Given the description of an element on the screen output the (x, y) to click on. 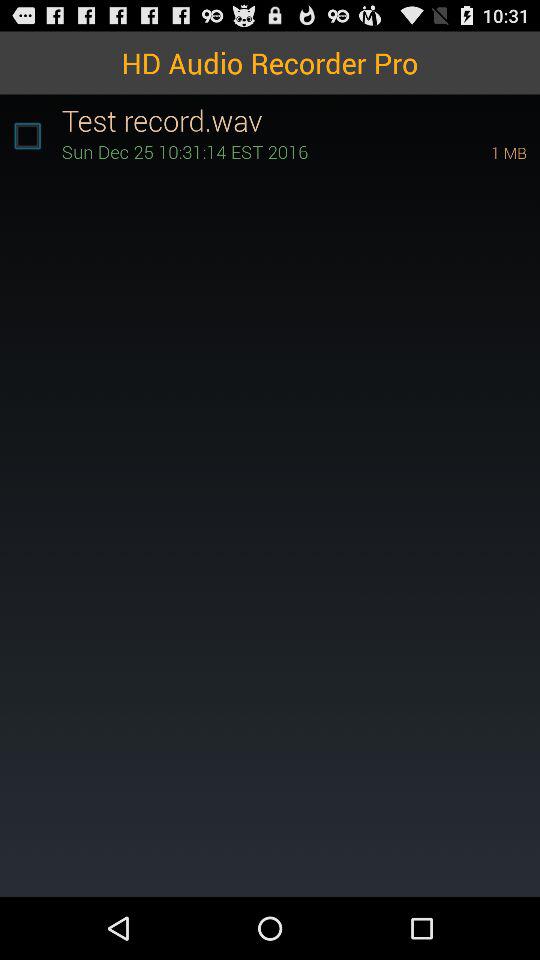
turn on icon next to 1 mb item (248, 151)
